Given the description of an element on the screen output the (x, y) to click on. 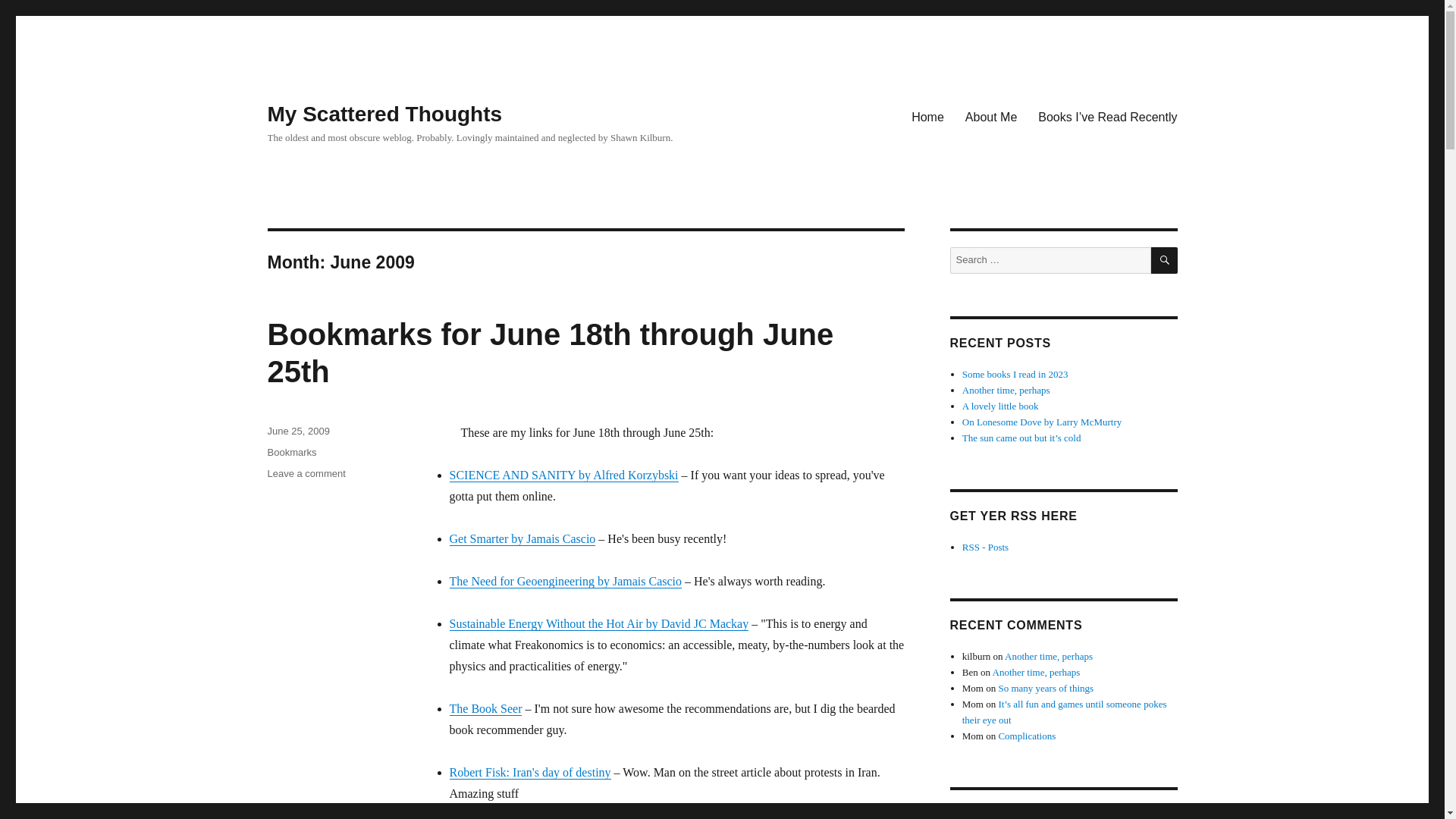
The Need for Geoengineering by Jamais Cascio (564, 581)
SCIENCE AND SANITY by Alfred Korzybski (563, 474)
Subscribe to posts (985, 546)
Get Smarter by Jamais Cascio (521, 538)
Home (928, 116)
Sustainable Energy Without the Hot Air by David JC Mackay (598, 623)
Robert Fisk: Iran's day of destiny (529, 771)
Bookmarks for June 18th through June 25th (549, 352)
The Book Seer (484, 707)
About Me (991, 116)
